Given the description of an element on the screen output the (x, y) to click on. 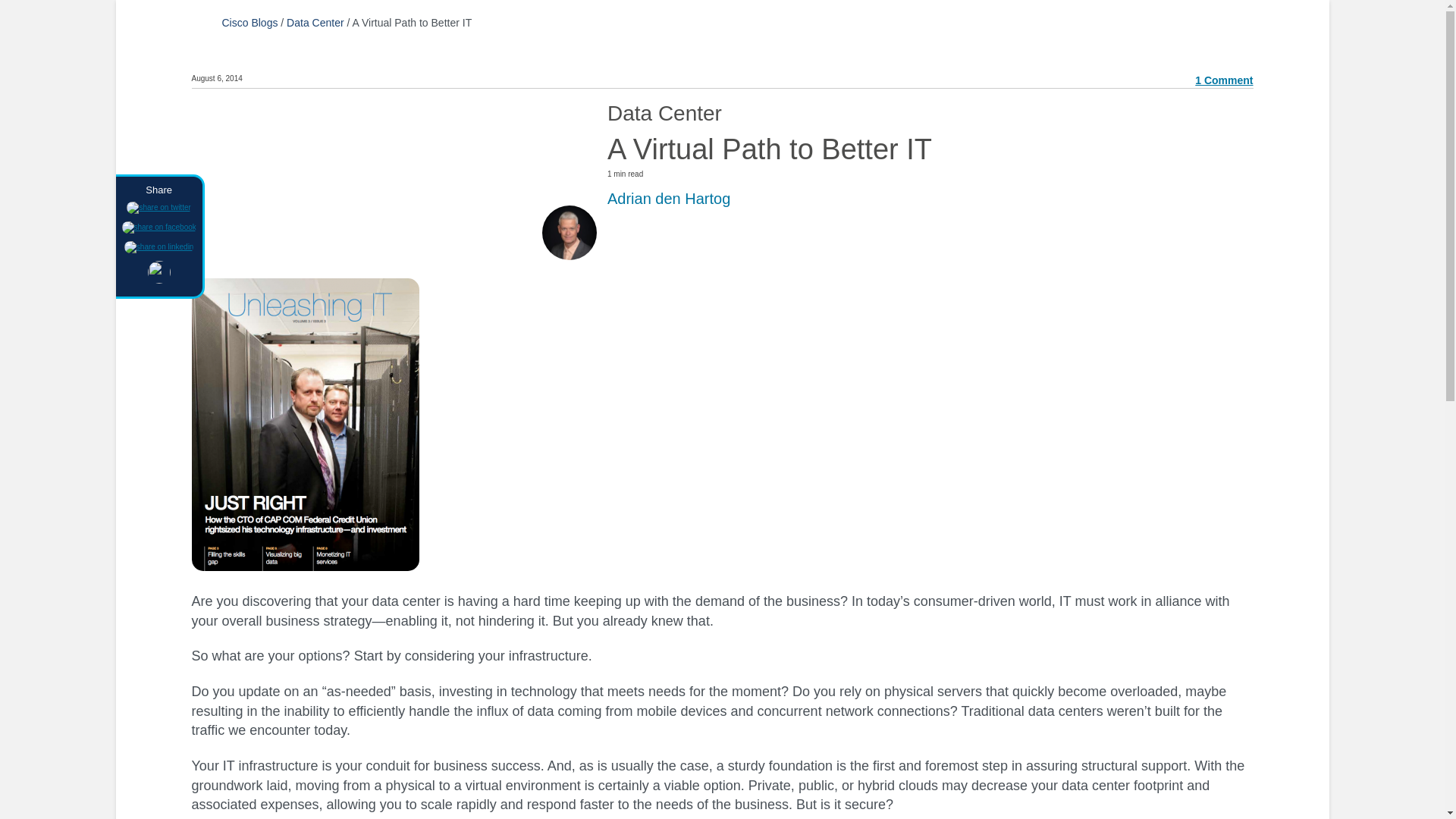
Data Center (314, 22)
Cisco Blogs (249, 22)
Posts by Adrian den Hartog (668, 198)
Adrian den Hartog (668, 198)
